Given the description of an element on the screen output the (x, y) to click on. 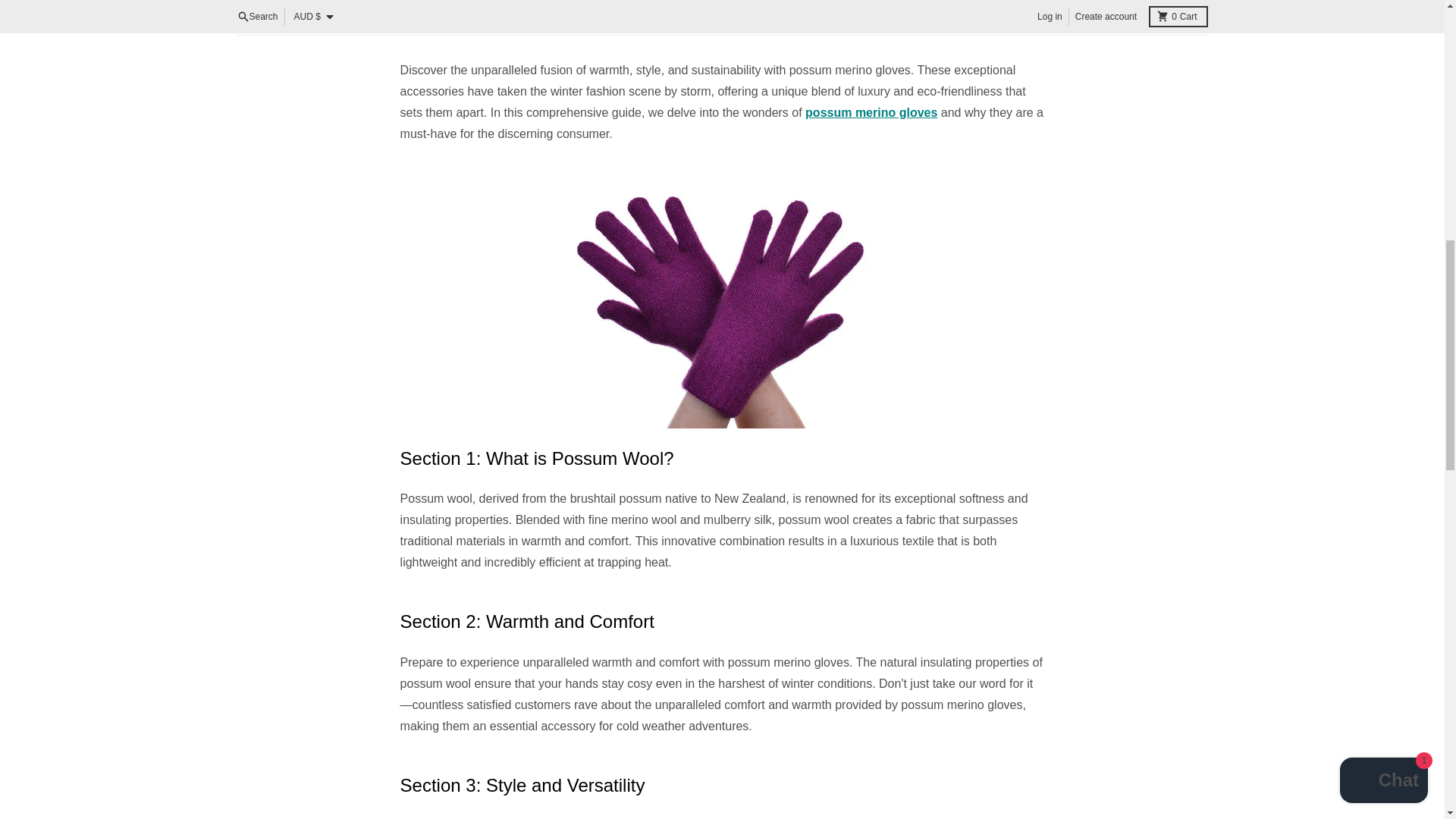
Possum Gloves (871, 112)
